Given the description of an element on the screen output the (x, y) to click on. 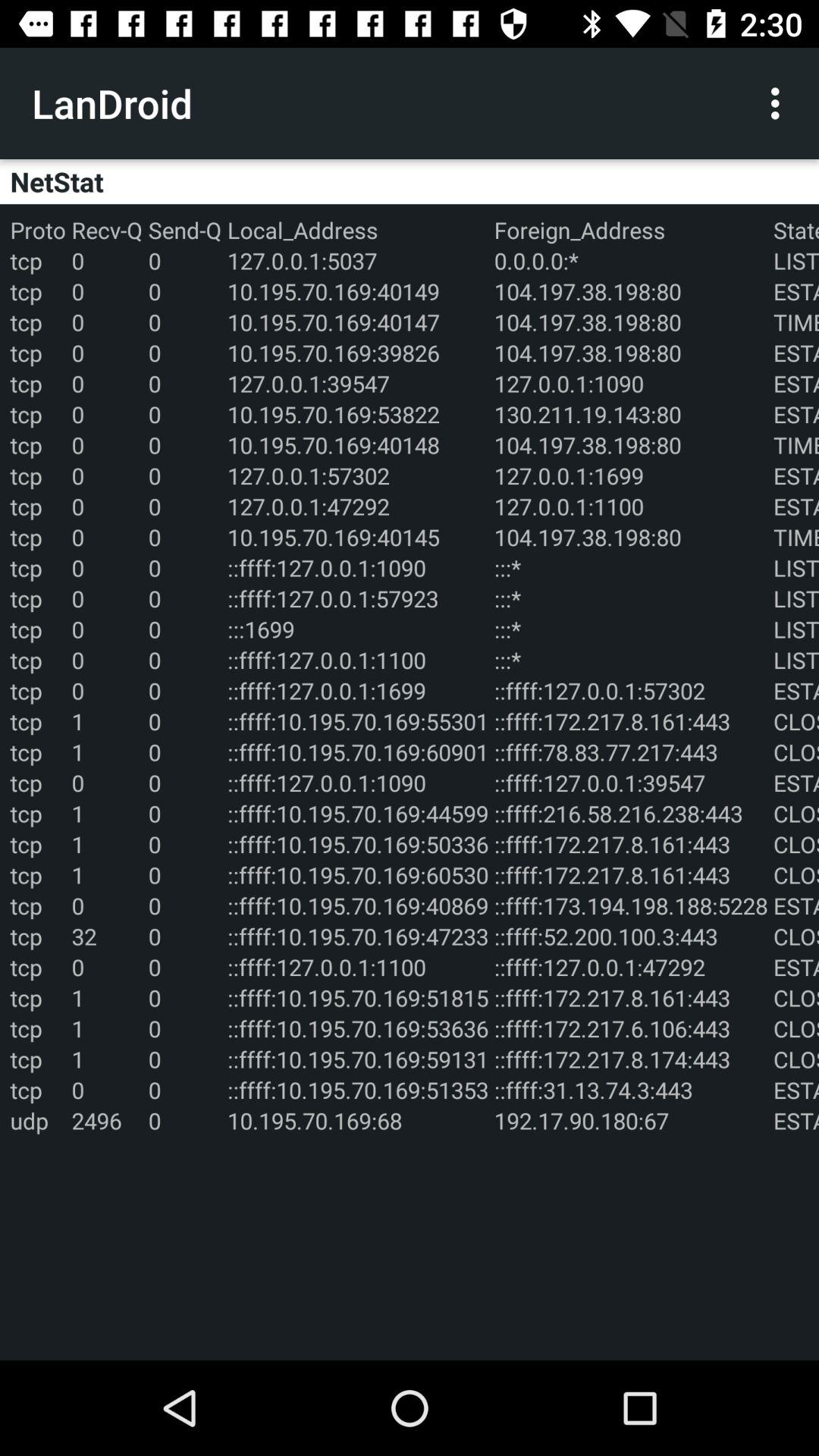
launch the icon next to the landroid icon (779, 103)
